Given the description of an element on the screen output the (x, y) to click on. 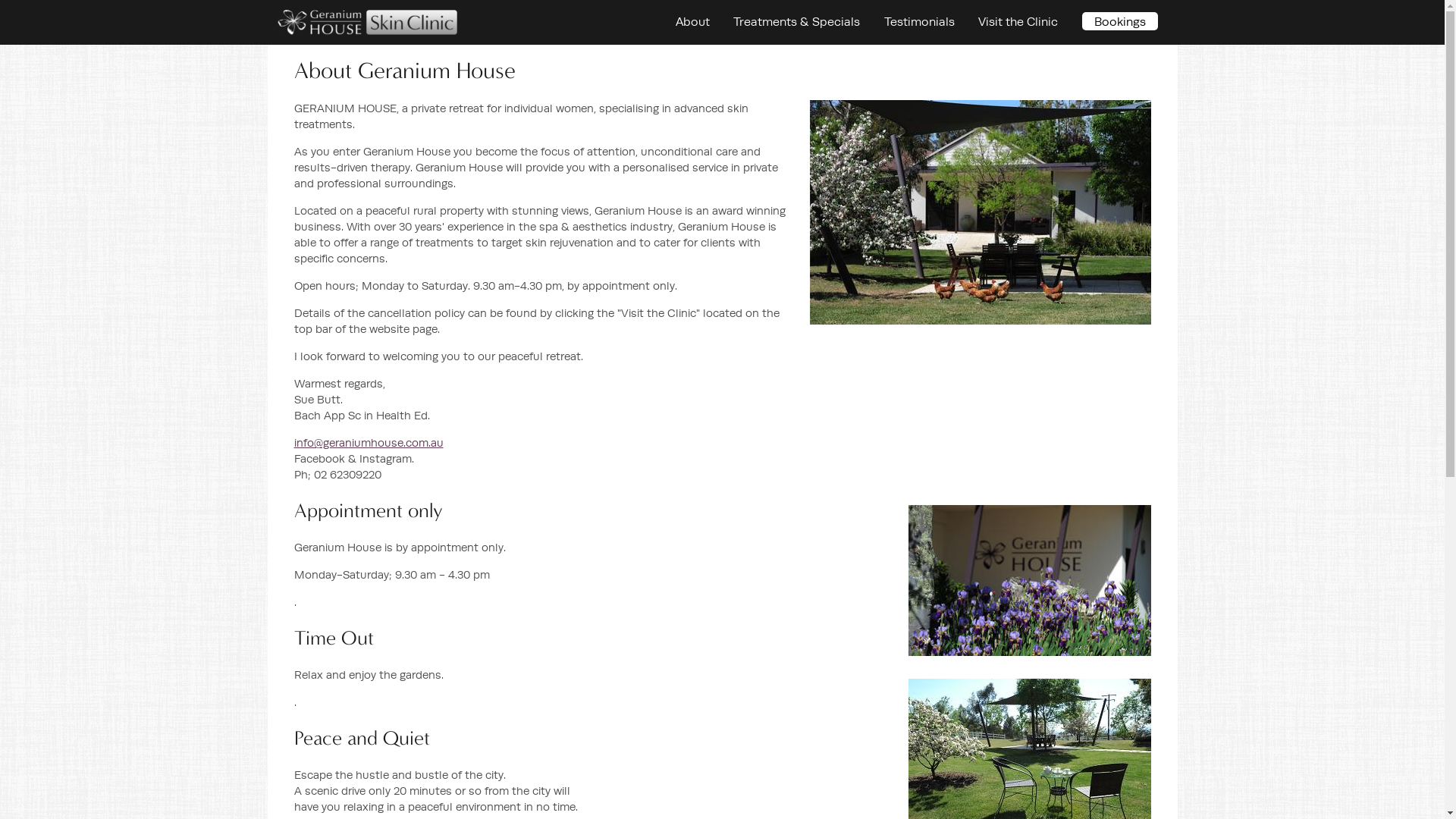
Visit the Clinic Element type: text (1017, 20)
Testimonials Element type: text (919, 20)
Home Element type: text (293, 17)
About Element type: text (692, 20)
info@geraniumhouse.com.au Element type: text (368, 442)
Treatments & Specials Element type: text (796, 20)
Bookings Element type: text (1119, 21)
